Given the description of an element on the screen output the (x, y) to click on. 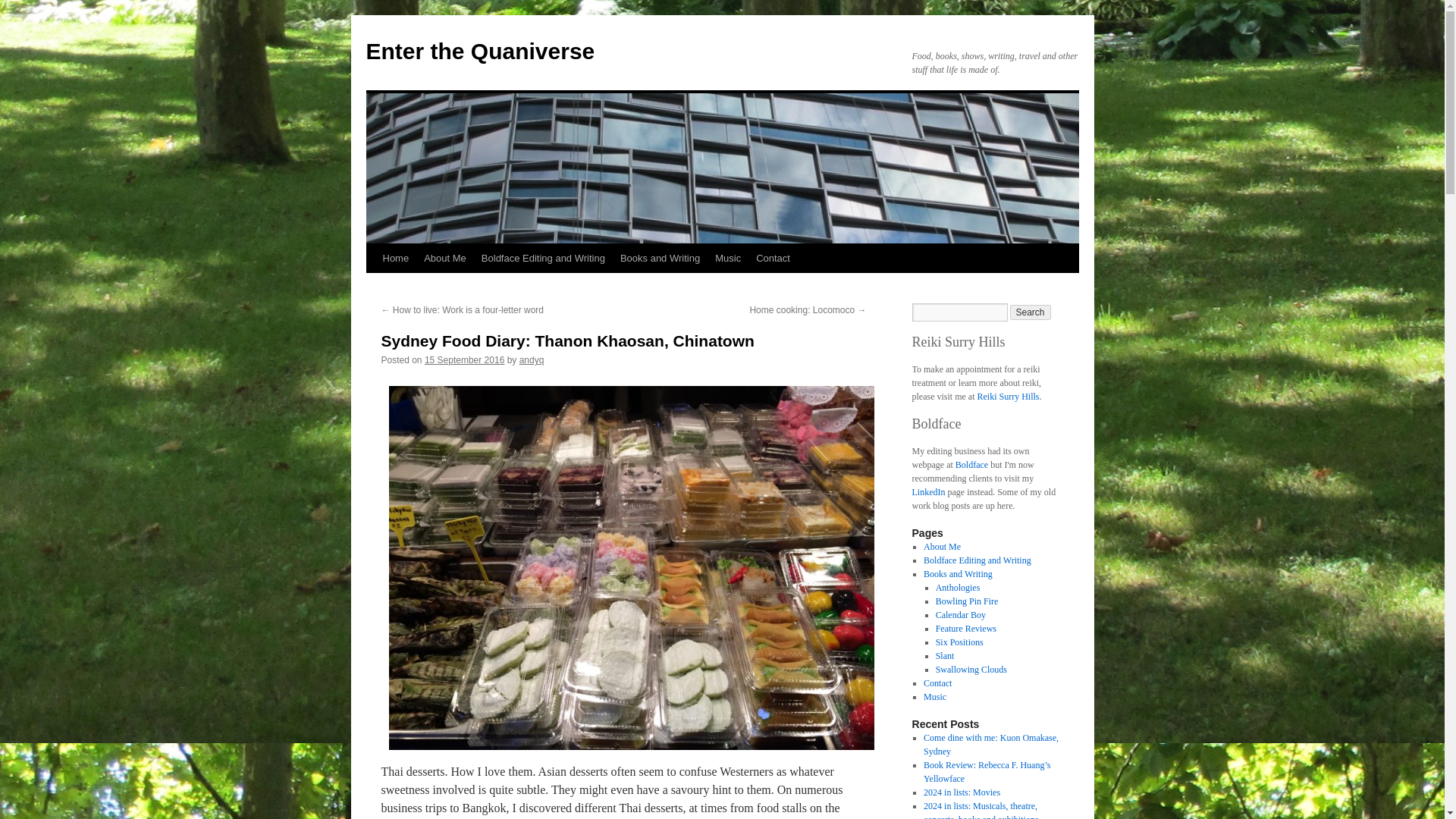
Calendar Boy (960, 614)
Reiki Surry Hills. (1008, 396)
Feature Reviews (965, 628)
About Me (941, 546)
Boldface Editing and Writing (976, 560)
Boldface (971, 464)
Boldface Editing and Writing (543, 258)
Books and Writing (957, 573)
Contact (772, 258)
Six Positions (960, 642)
